Given the description of an element on the screen output the (x, y) to click on. 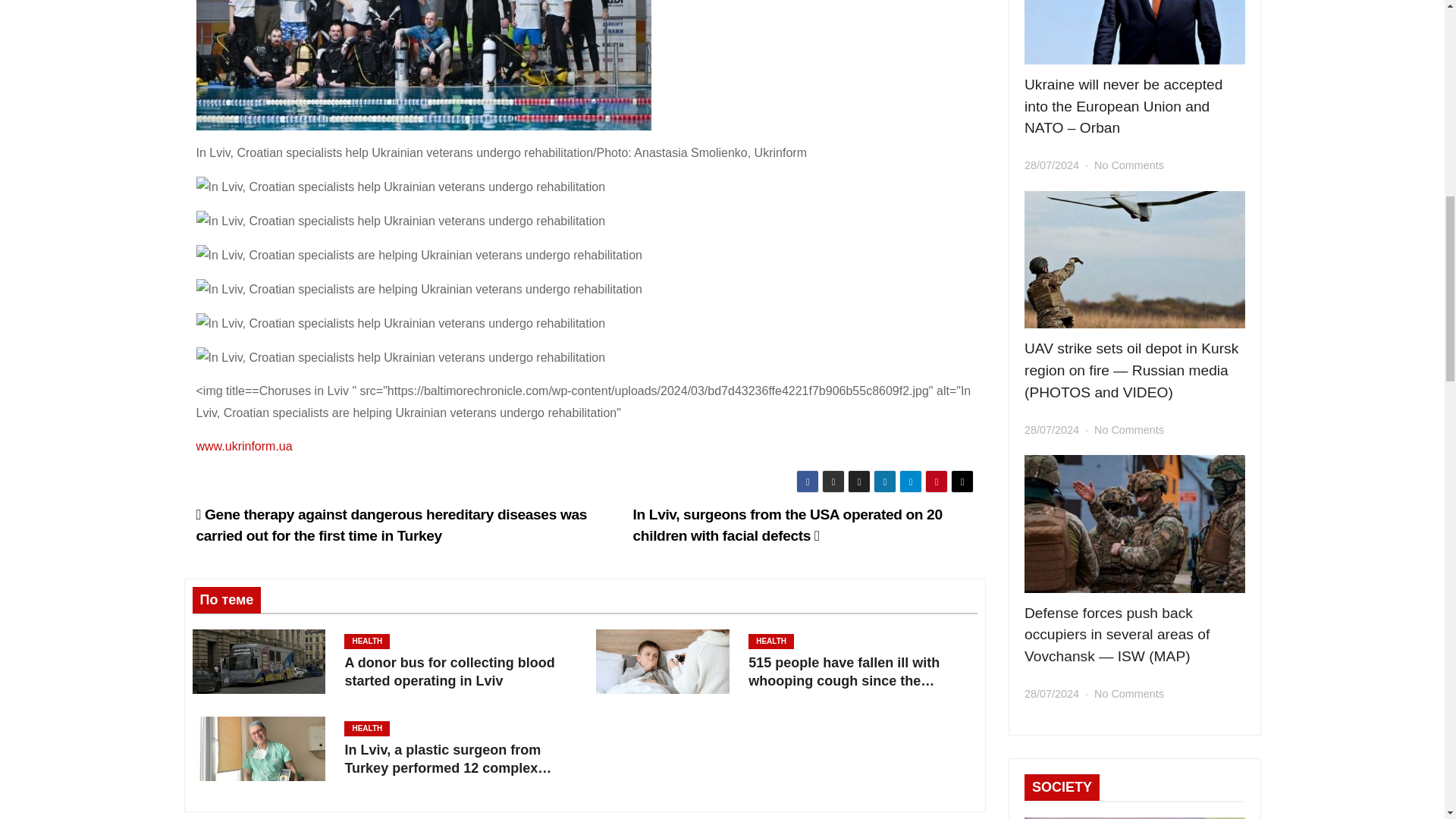
www.ukrinform.ua (243, 445)
